Given the description of an element on the screen output the (x, y) to click on. 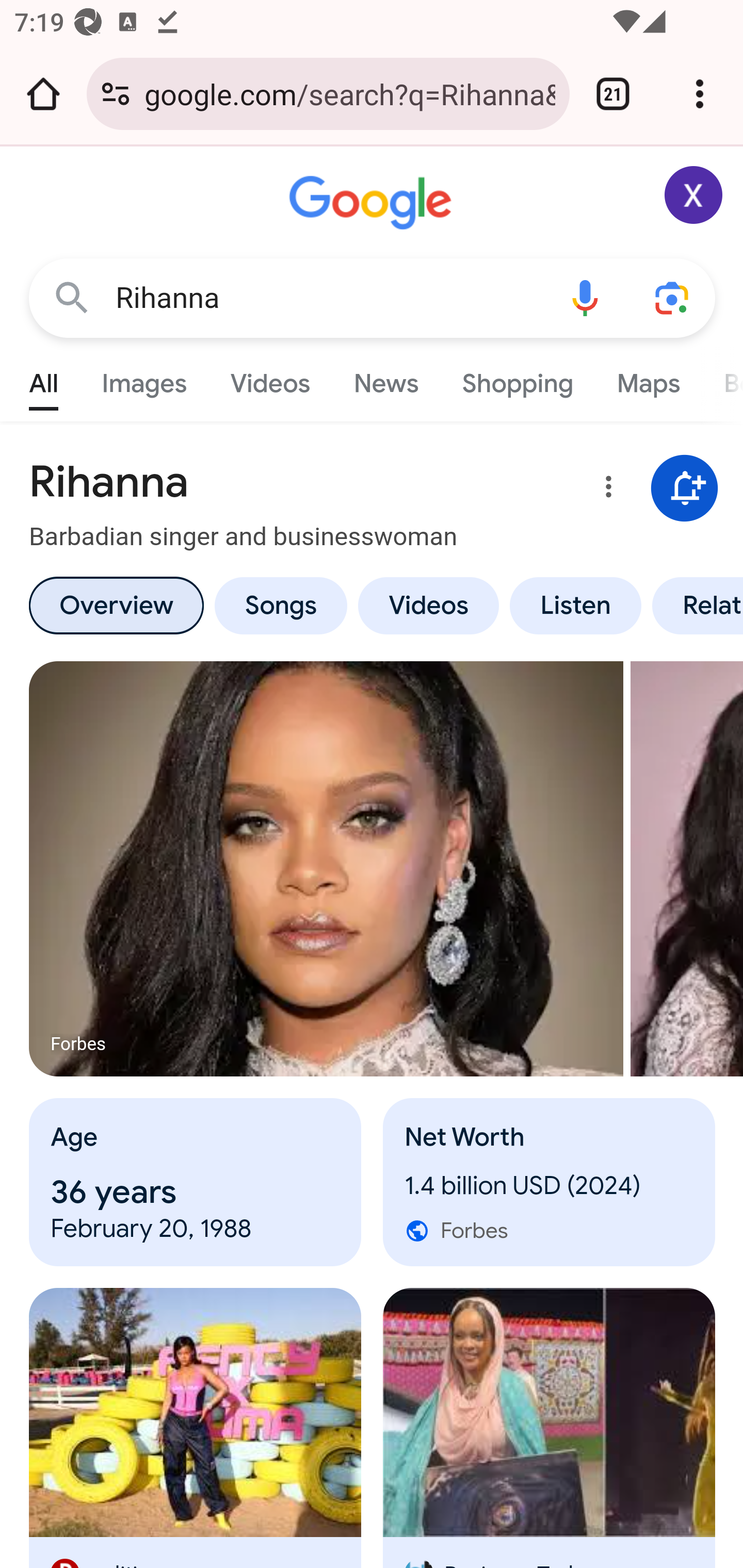
Open the home page (43, 93)
Connection is secure (115, 93)
Switch or close tabs (612, 93)
Customize and control Google Chrome (699, 93)
Google (372, 203)
Google Account: Xiaoran (zxrappiumtest@gmail.com) (694, 195)
Google Search (71, 296)
Search using your camera or photos (672, 296)
Rihanna (328, 297)
Images (144, 378)
Videos (270, 378)
News (385, 378)
Shopping (516, 378)
Maps (647, 378)
Get notifications about Rihanna (684, 489)
More options (605, 489)
Overview (116, 605)
Songs (280, 605)
Videos (428, 605)
Listen (575, 605)
Relationships (694, 605)
